Given the description of an element on the screen output the (x, y) to click on. 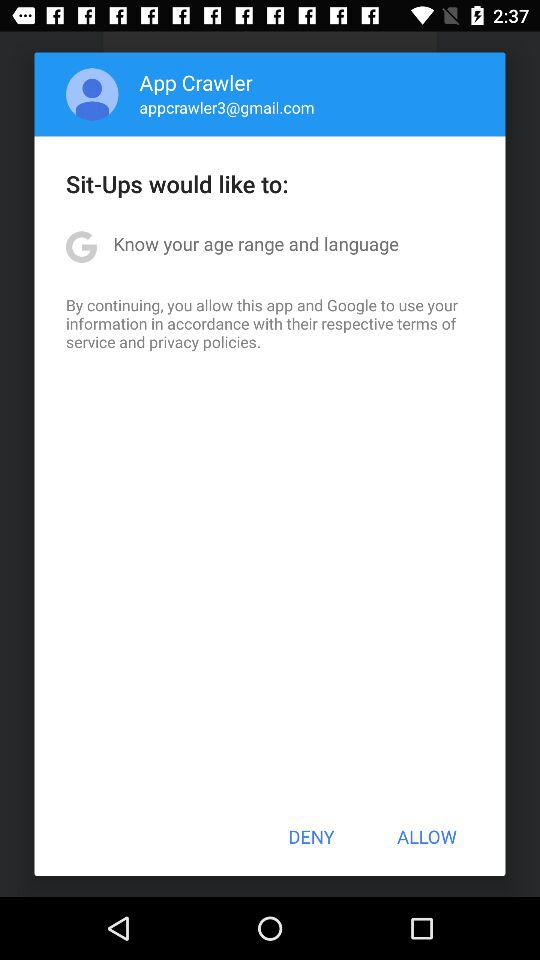
tap know your age app (255, 243)
